Given the description of an element on the screen output the (x, y) to click on. 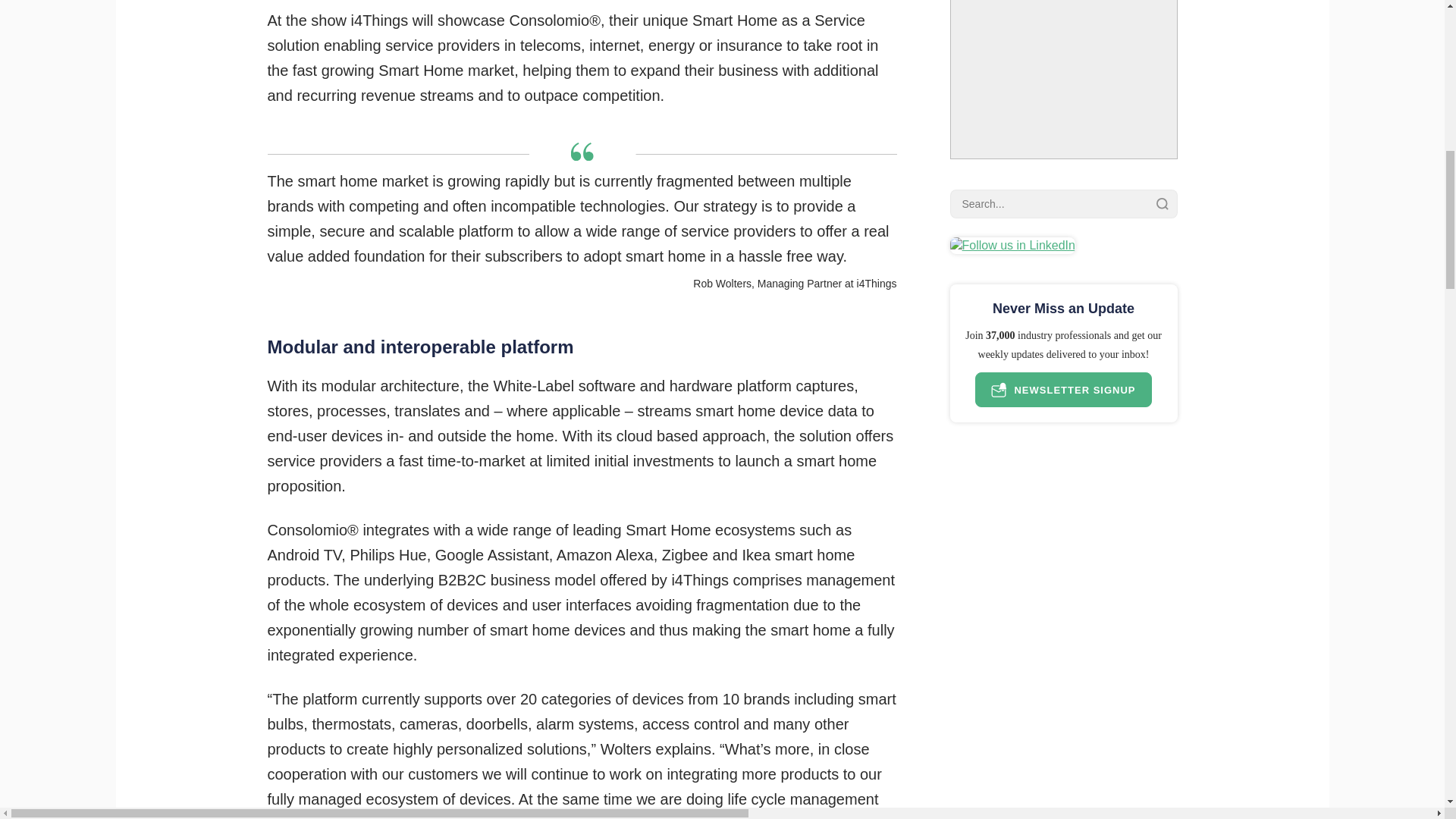
Search (1162, 203)
NEWSLETTER SIGNUP (1063, 389)
Search (1162, 203)
